Given the description of an element on the screen output the (x, y) to click on. 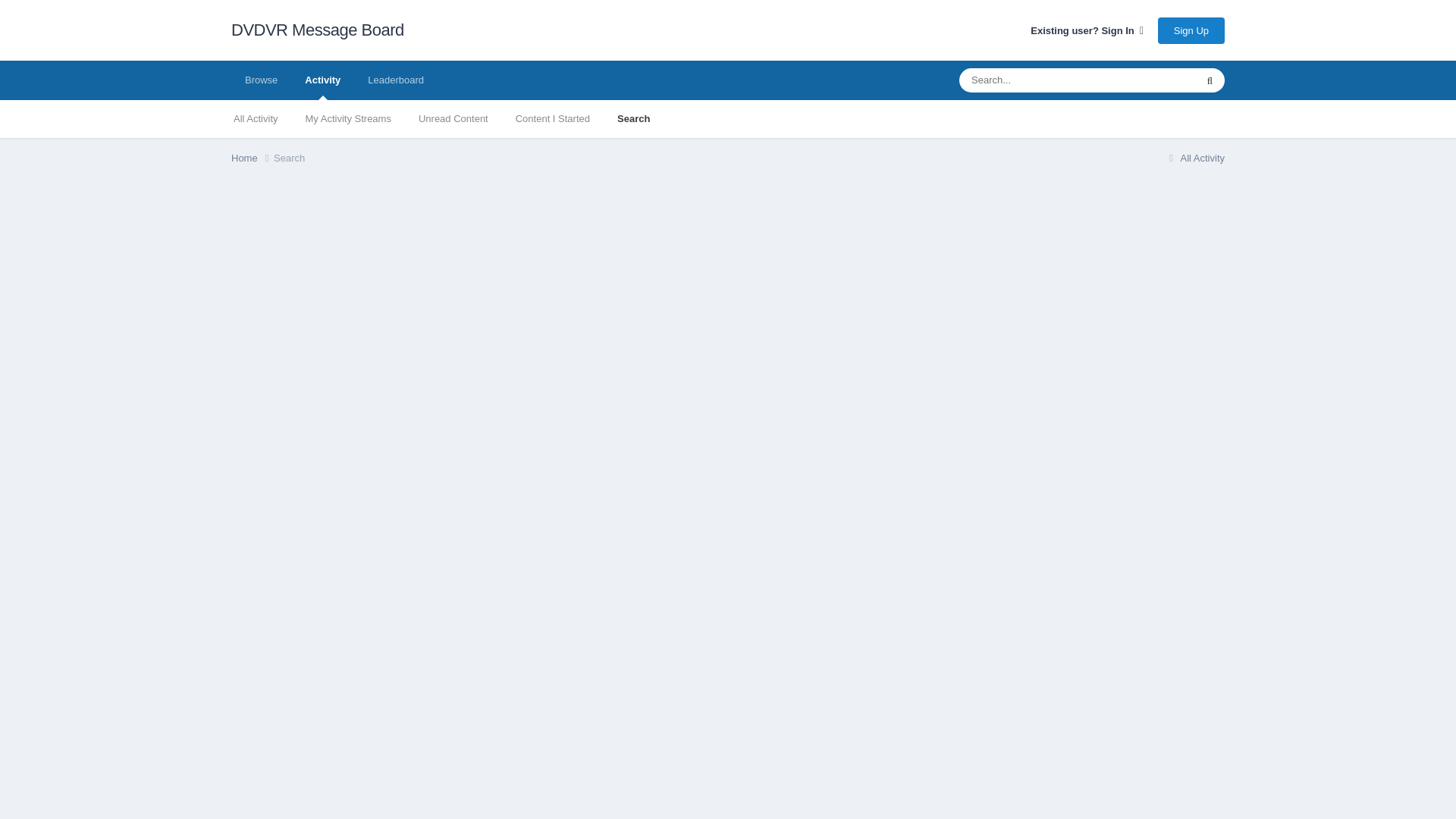
Existing user? Sign In   (1086, 30)
Activity (322, 79)
All Activity (255, 118)
Leaderboard (395, 79)
My Activity Streams (348, 118)
Unread Content (453, 118)
Sign Up (1190, 29)
Home (252, 158)
Browse (261, 79)
Content I Started (553, 118)
